Given the description of an element on the screen output the (x, y) to click on. 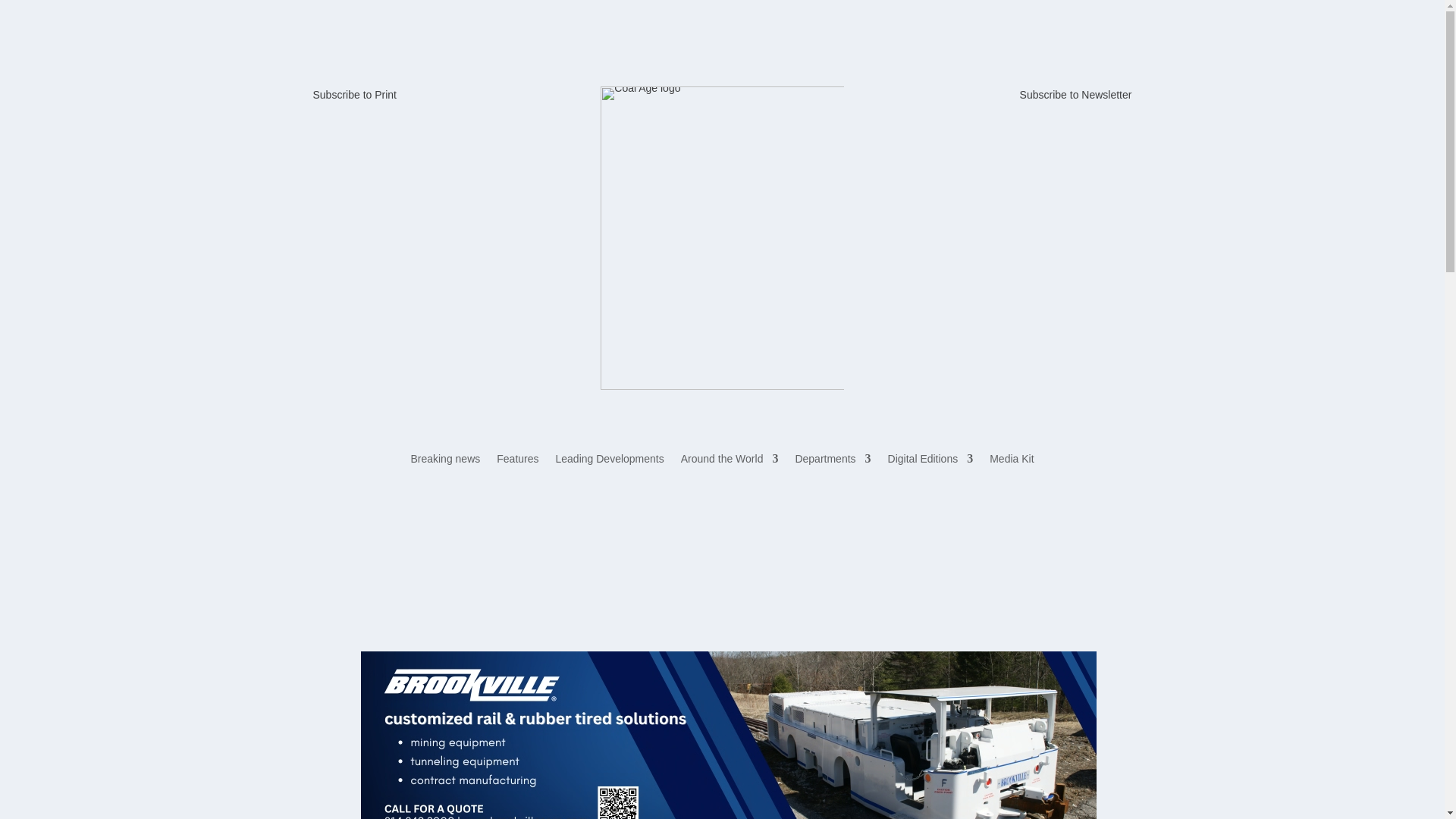
Subscribe to Print (354, 94)
Subscribe to Newsletter (1076, 94)
Digital Editions (931, 461)
Departments (832, 461)
Around the World (729, 461)
Media Kit (1011, 461)
Features (517, 461)
Leading Developments (609, 461)
Breaking news (445, 461)
